Given the description of an element on the screen output the (x, y) to click on. 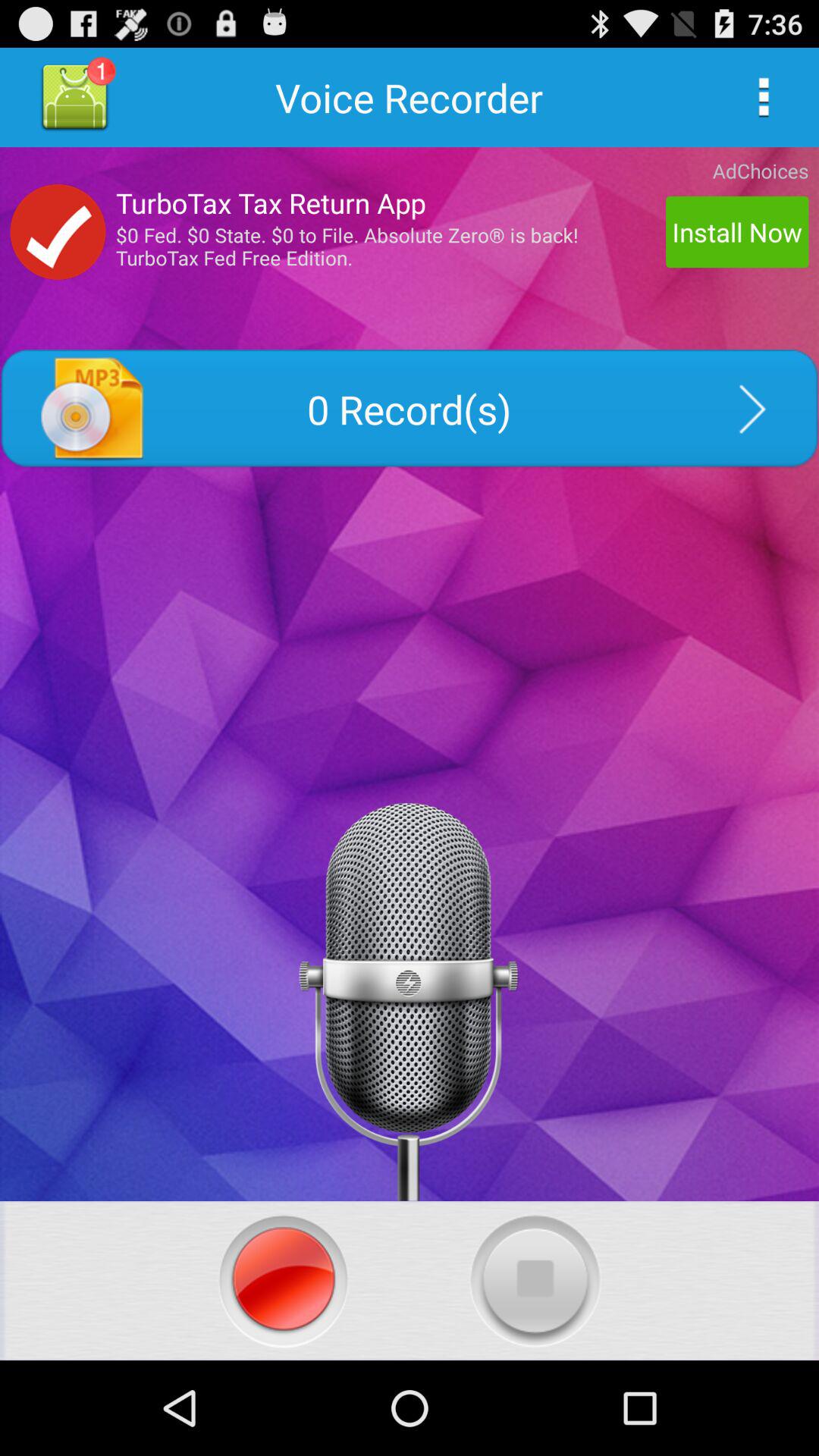
one unread notification (75, 97)
